Given the description of an element on the screen output the (x, y) to click on. 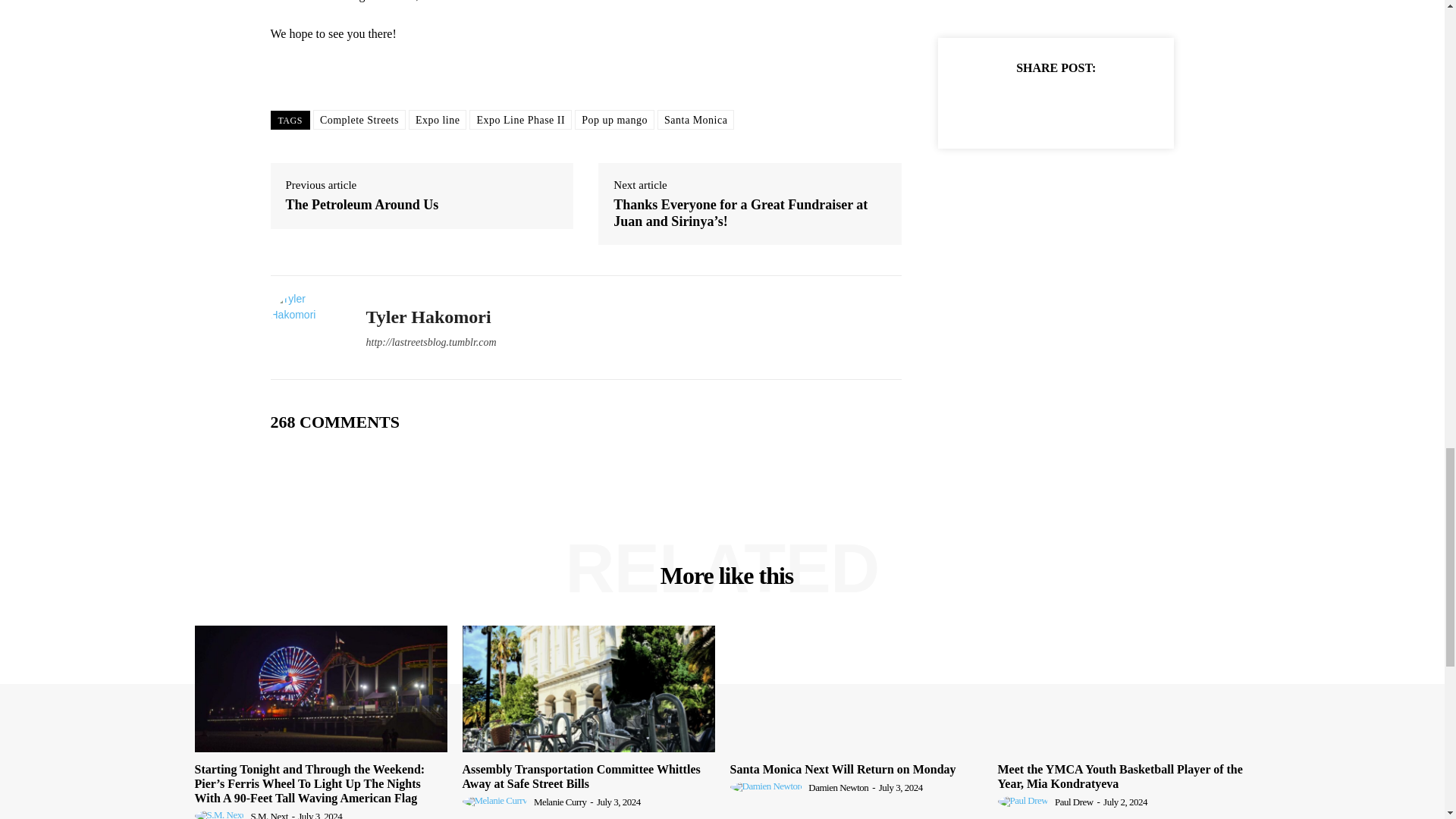
Page 1 (585, 22)
Tyler Hakomori (305, 327)
